Given the description of an element on the screen output the (x, y) to click on. 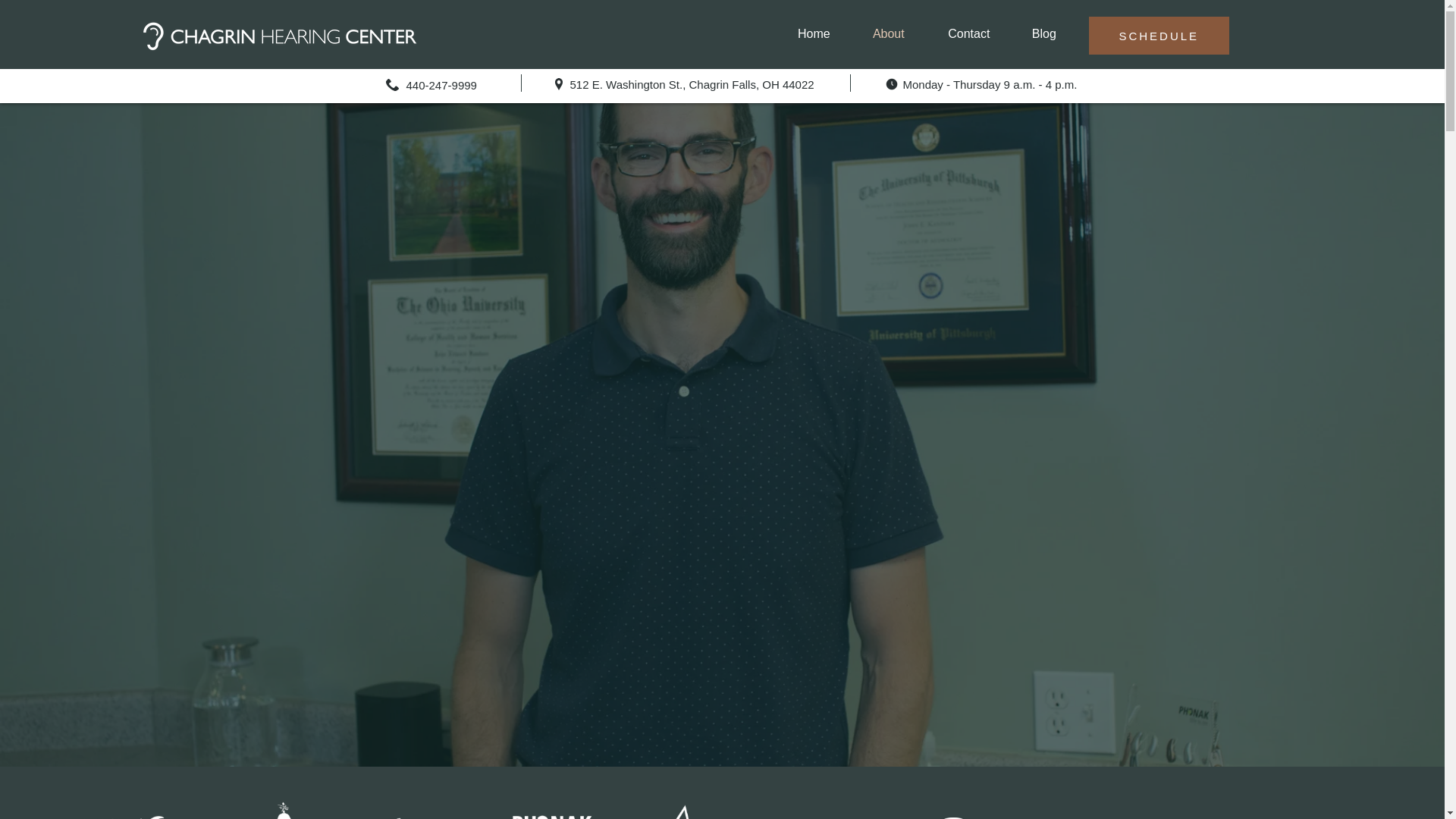
Blog (1044, 33)
Home (813, 33)
SCHEDULE (1158, 35)
440-247-9999 (441, 84)
512 E. Washington St., Chagrin Falls, OH 44022 (691, 83)
Contact (968, 33)
About (888, 33)
